Given the description of an element on the screen output the (x, y) to click on. 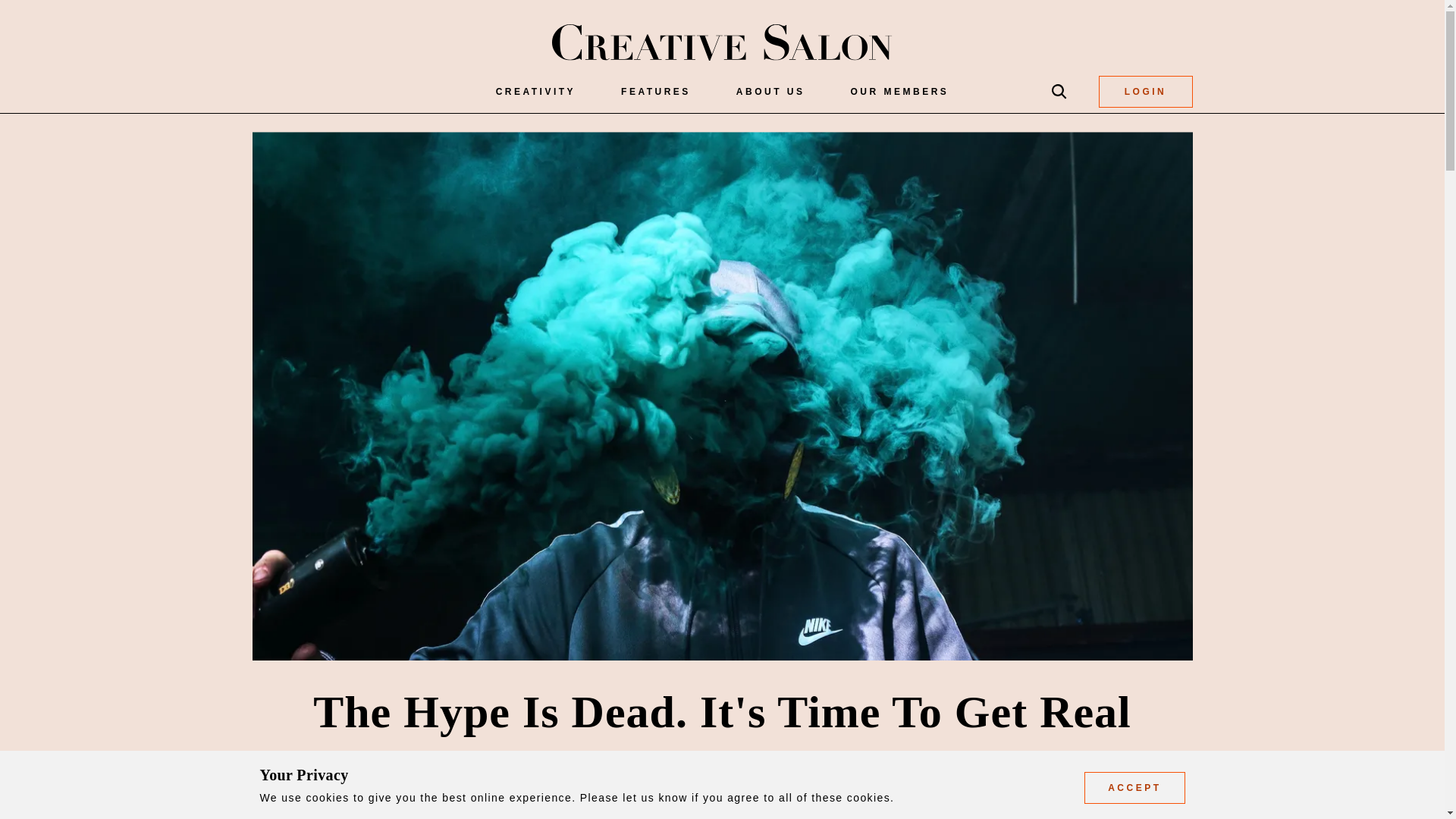
LOGIN (1144, 91)
FEATURES (655, 91)
ABOUT US (770, 91)
CREATIVITY (535, 91)
OUR MEMBERS (900, 91)
ACCEPT (1134, 787)
